Given the description of an element on the screen output the (x, y) to click on. 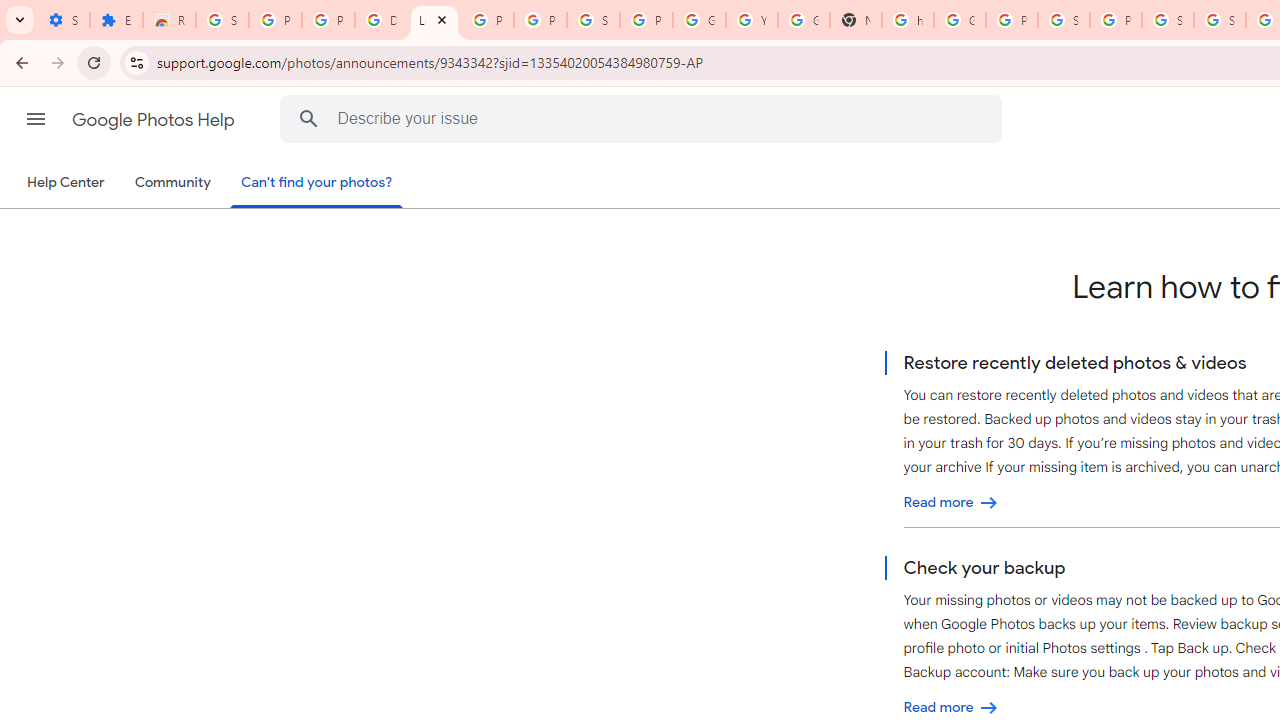
Restore recently deleted photos & videos (951, 502)
Describe your issue (644, 118)
Delete photos & videos - Computer - Google Photos Help (381, 20)
Can't find your photos? (317, 183)
Google Photos Help (155, 119)
https://scholar.google.com/ (907, 20)
Settings - On startup (63, 20)
